Given the description of an element on the screen output the (x, y) to click on. 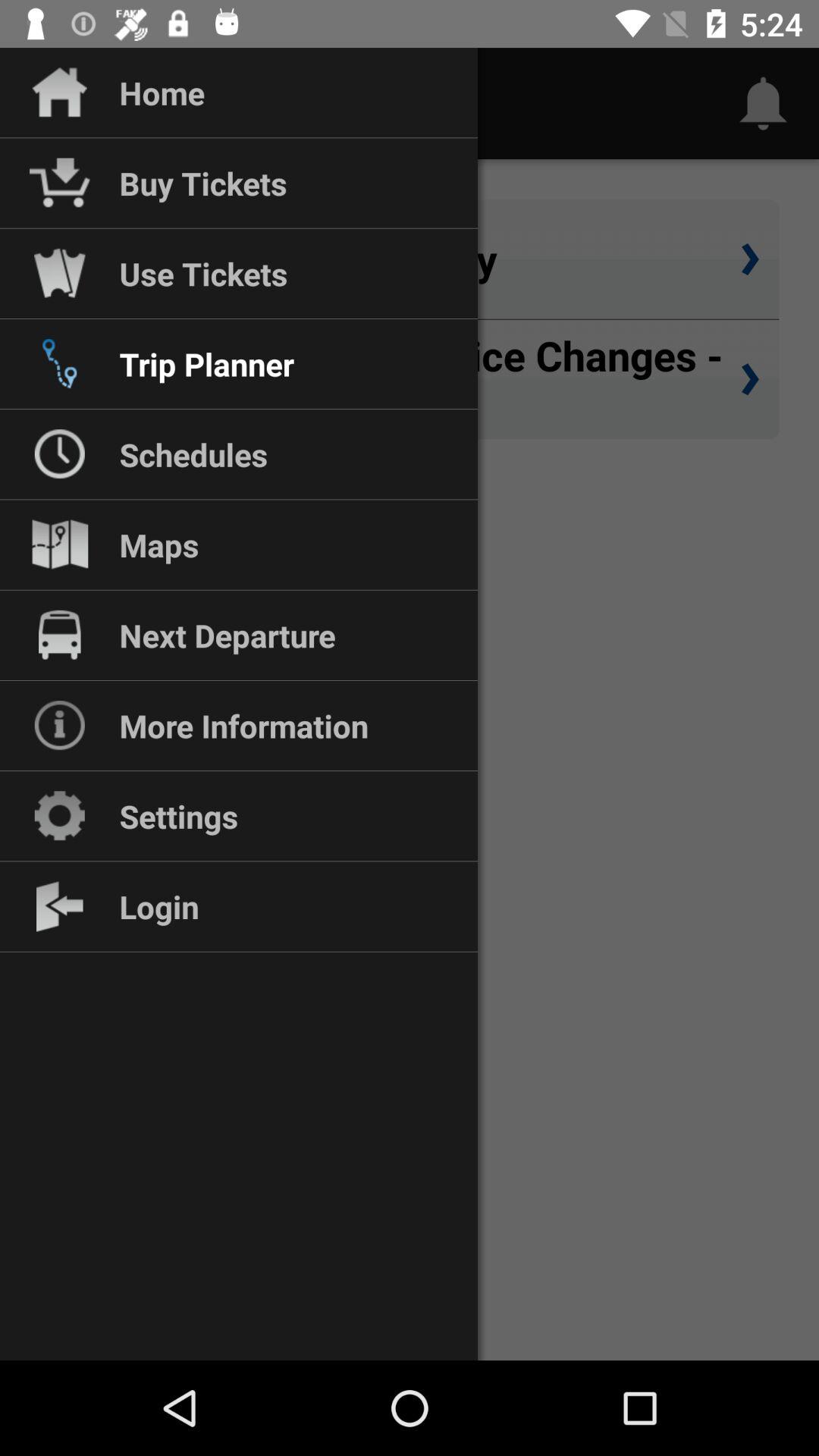
click on the notifications icon (763, 103)
